Given the description of an element on the screen output the (x, y) to click on. 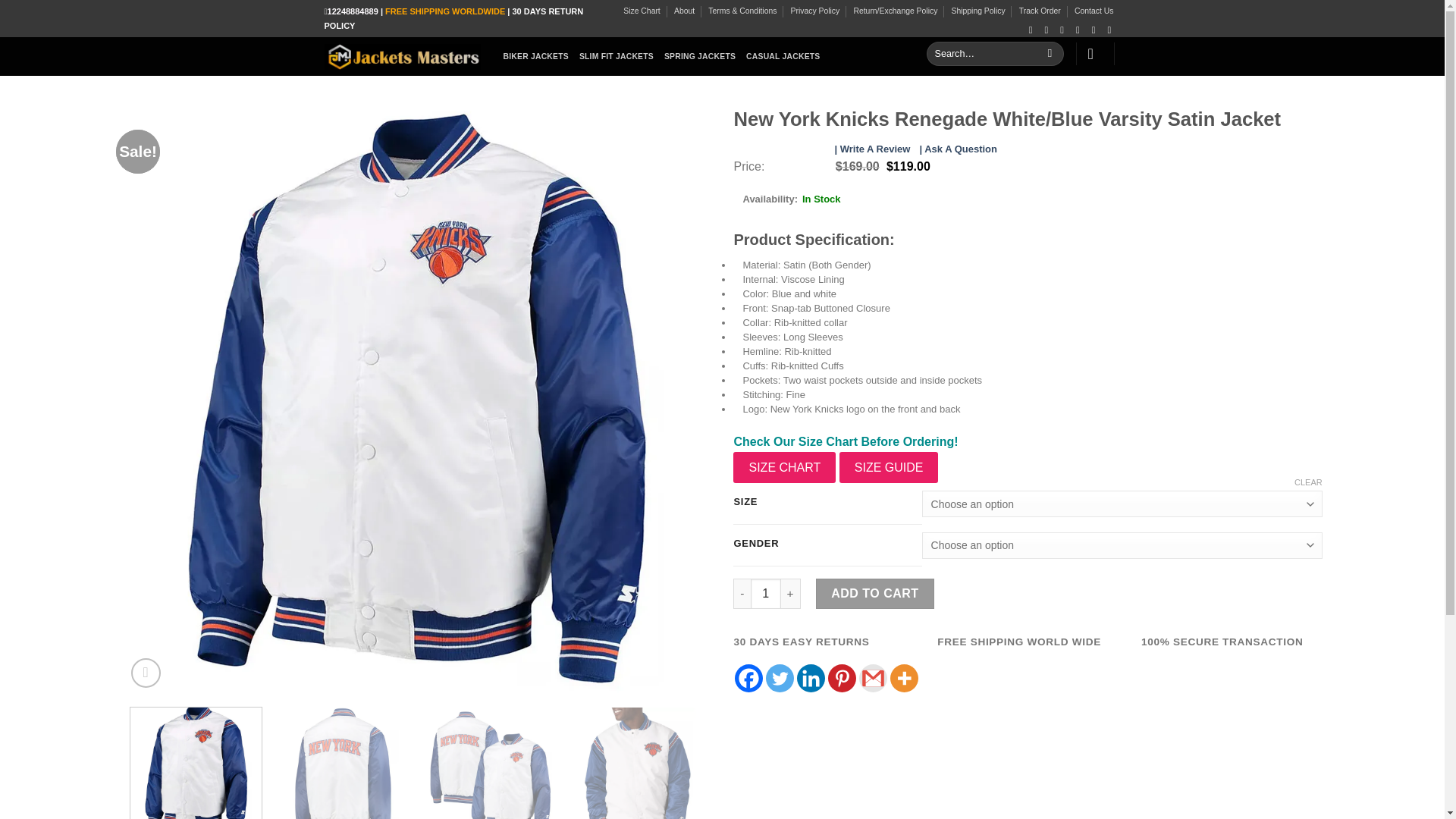
BIKER JACKETS (536, 56)
1 (765, 593)
Shipping Policy (979, 11)
CASUAL JACKETS (782, 56)
Track Order (1040, 11)
Contact Us (1093, 11)
SLIM FIT JACKETS (616, 56)
About (684, 11)
Size Chart (642, 11)
Search (1050, 53)
12248884889 (352, 10)
Privacy Policy (815, 11)
SPRING JACKETS (699, 56)
